Given the description of an element on the screen output the (x, y) to click on. 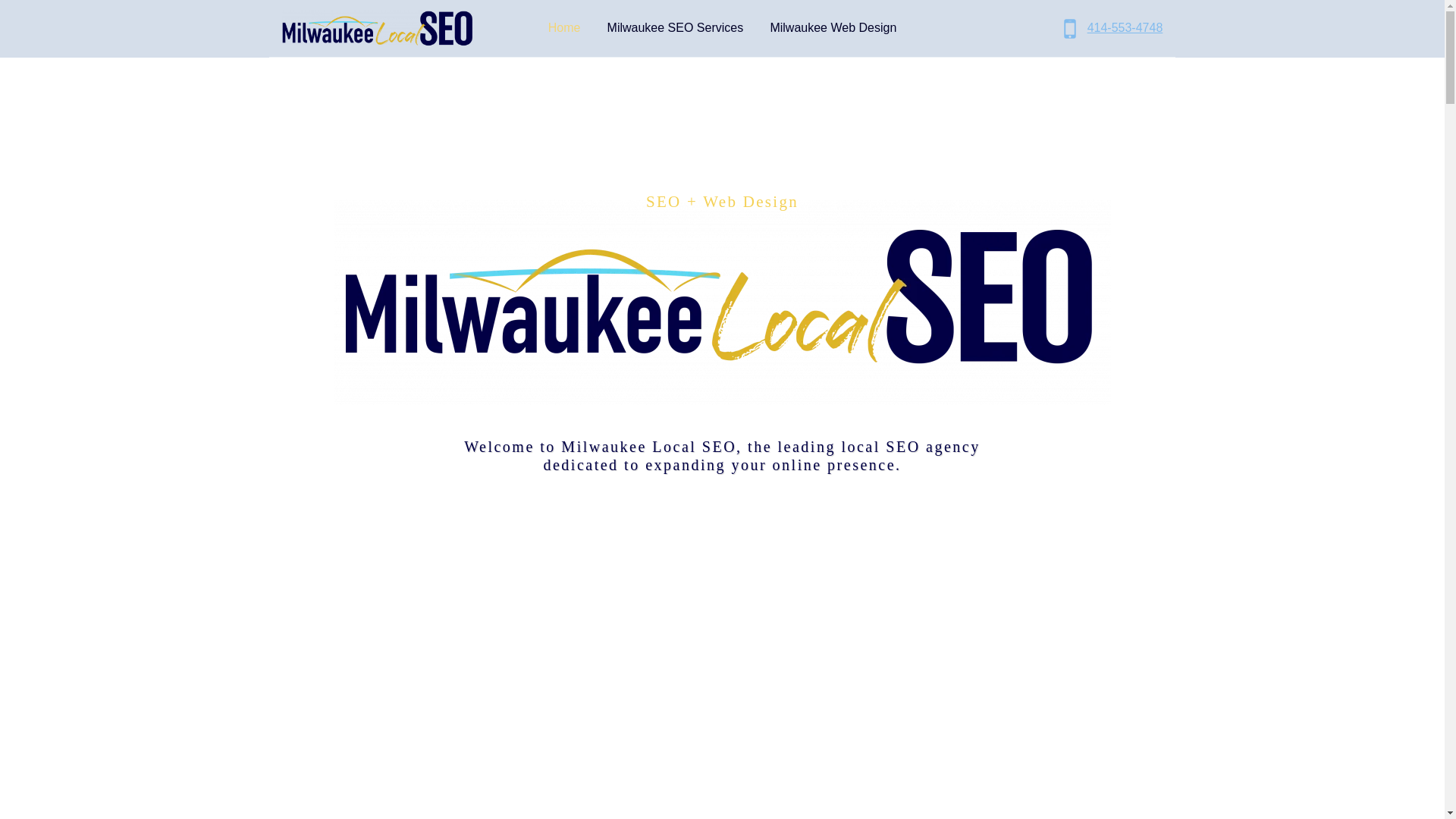
Milwaukee SEO Services (675, 28)
Home (564, 28)
414-553-4748 (1109, 28)
Milwaukee Web Design (833, 28)
